Given the description of an element on the screen output the (x, y) to click on. 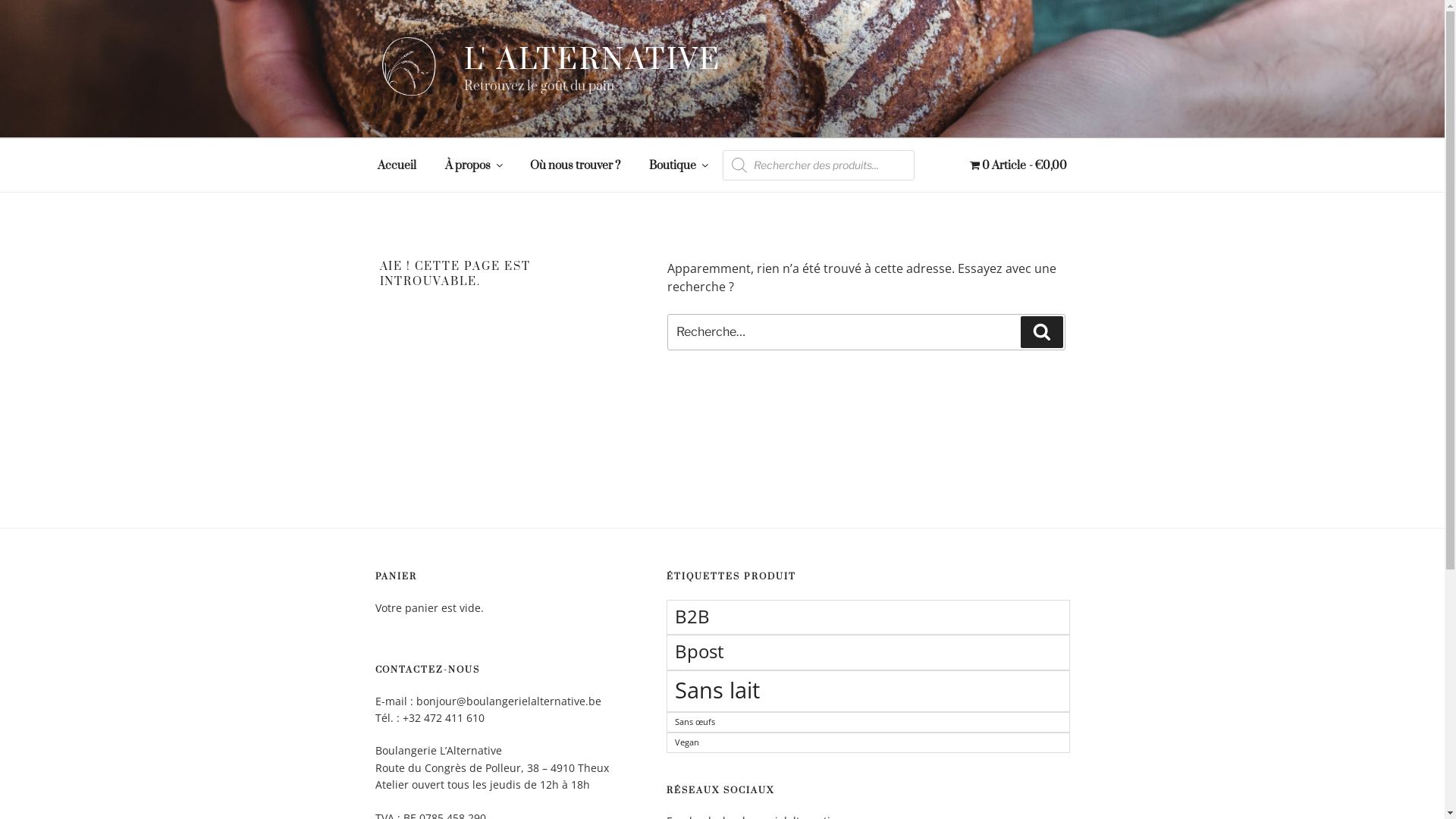
Sans lait Element type: text (867, 691)
Recherche Element type: text (1041, 332)
Accueil Element type: text (396, 165)
Boutique Element type: text (677, 165)
L' ALTERNATIVE Element type: text (592, 59)
Vegan Element type: text (867, 742)
B2B Element type: text (867, 617)
Bpost Element type: text (867, 652)
